Given the description of an element on the screen output the (x, y) to click on. 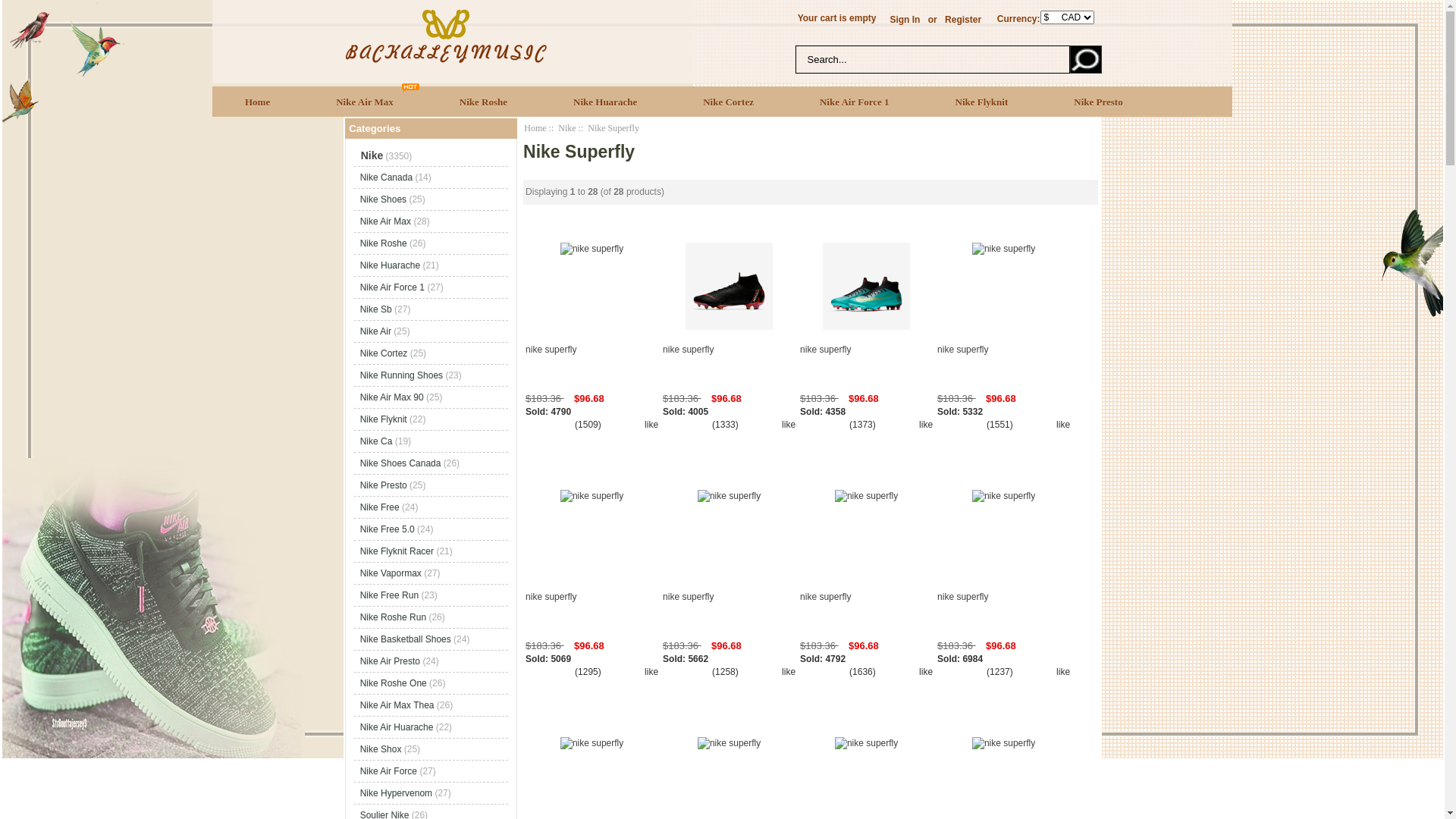
 nike superfly  Element type: hover (1003, 495)
Nike Ca Element type: text (376, 441)
nike superfly Element type: text (866, 609)
like Element type: text (925, 671)
Nike Air Max Element type: text (385, 221)
like Element type: text (1063, 671)
Home Element type: text (535, 127)
 nike superfly  Element type: hover (591, 248)
Nike Shox Element type: text (380, 748)
like Element type: text (651, 424)
Nike Presto Element type: text (1098, 101)
nike superfly Element type: text (591, 362)
 nike superfly  Element type: hover (728, 495)
Nike Free 5.0 Element type: text (387, 529)
 backalleymusic.ca  Element type: hover (444, 35)
Nike Air Max 90 Element type: text (391, 397)
Nike Air Presto Element type: text (390, 660)
nike superfly Element type: text (591, 609)
Register Element type: text (962, 19)
Nike Roshe Element type: text (483, 101)
 nike superfly  Element type: hover (728, 285)
like Element type: text (1063, 424)
nike superfly Element type: text (1003, 362)
Nike Cortez Element type: text (728, 101)
Nike Free Element type: text (379, 507)
like Element type: text (651, 671)
Home Element type: text (257, 101)
like Element type: text (925, 424)
 nike superfly  Element type: hover (728, 743)
like Element type: text (788, 424)
Sign In Element type: text (904, 19)
Nike Roshe Run Element type: text (393, 616)
Nike Roshe One Element type: text (393, 682)
Nike Huarache Element type: text (605, 101)
 nike superfly  Element type: hover (865, 495)
Nike Canada Element type: text (386, 177)
Nike Air Max Thea Element type: text (397, 704)
Nike Flyknit Element type: text (383, 419)
Nike Air Element type: text (375, 331)
Nike Element type: text (566, 127)
like Element type: text (788, 671)
Nike Running Shoes Element type: text (401, 375)
nike superfly Element type: text (728, 362)
Nike Element type: text (368, 155)
 nike superfly  Element type: hover (1003, 743)
Nike Air Force 1 Element type: text (392, 287)
nike superfly Element type: text (1003, 609)
Nike Air Force Element type: text (388, 770)
 nike superfly  Element type: hover (591, 743)
Nike Free Run Element type: text (389, 594)
 nike superfly  Element type: hover (865, 743)
Nike Air Max Element type: text (364, 101)
Nike Huarache Element type: text (390, 265)
Nike Sb Element type: text (376, 309)
nike superfly Element type: text (866, 362)
Nike Air Force 1 Element type: text (854, 101)
Nike Flyknit Element type: text (981, 101)
Nike Vapormax Element type: text (390, 572)
 nike superfly  Element type: hover (1003, 248)
 nike superfly  Element type: hover (591, 495)
Nike Flyknit Racer Element type: text (396, 551)
Nike Shoes Canada Element type: text (400, 463)
Nike Roshe Element type: text (383, 243)
nike superfly Element type: text (728, 609)
Nike Basketball Shoes Element type: text (405, 638)
Nike Cortez Element type: text (383, 353)
 nike superfly  Element type: hover (866, 285)
Nike Air Huarache Element type: text (396, 726)
Nike Presto Element type: text (383, 485)
Nike Hypervenom Element type: text (396, 792)
Nike Shoes Element type: text (383, 199)
